Given the description of an element on the screen output the (x, y) to click on. 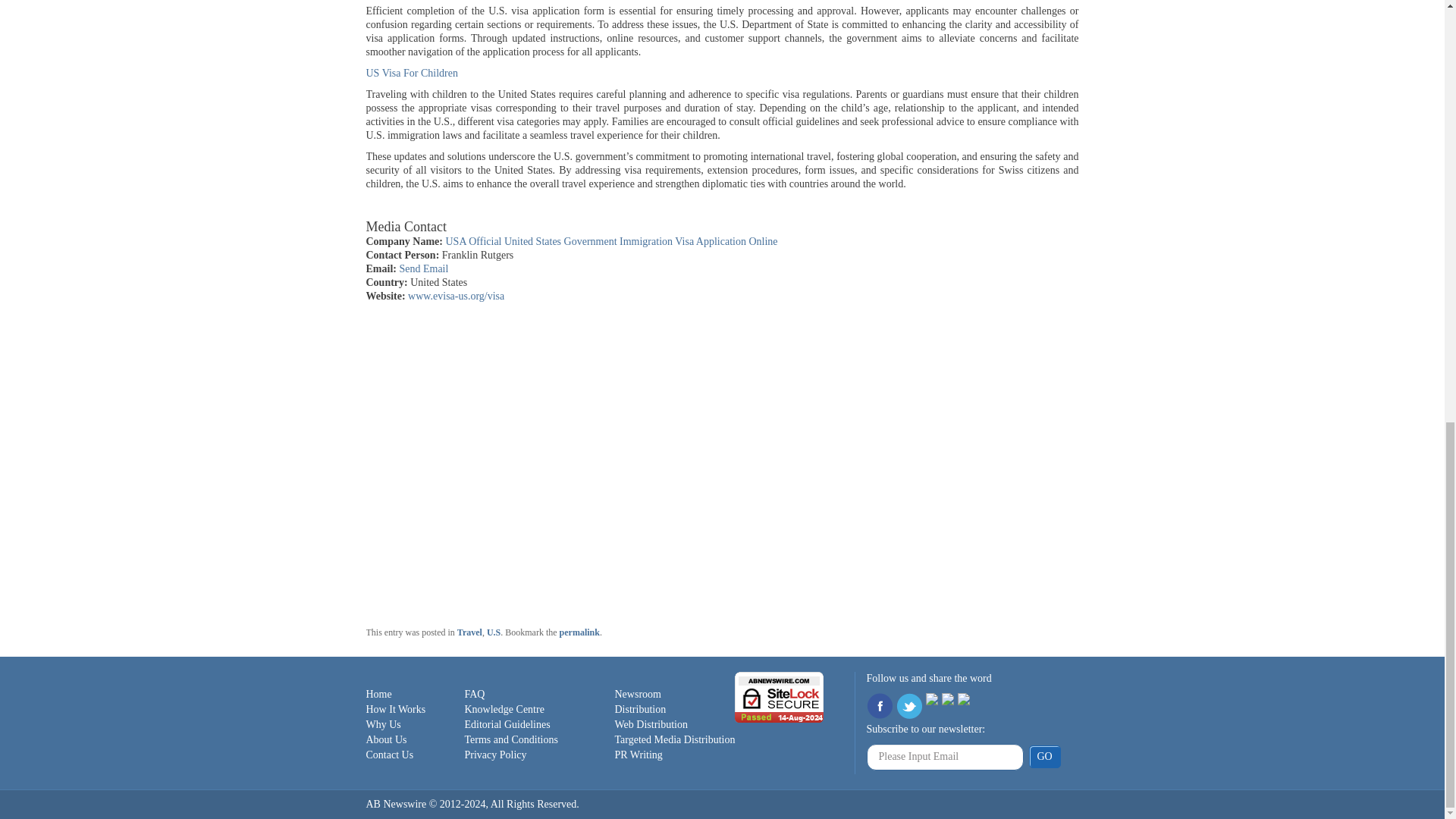
GO (1043, 756)
SiteLock (779, 696)
Please Input Email (944, 756)
